Given the description of an element on the screen output the (x, y) to click on. 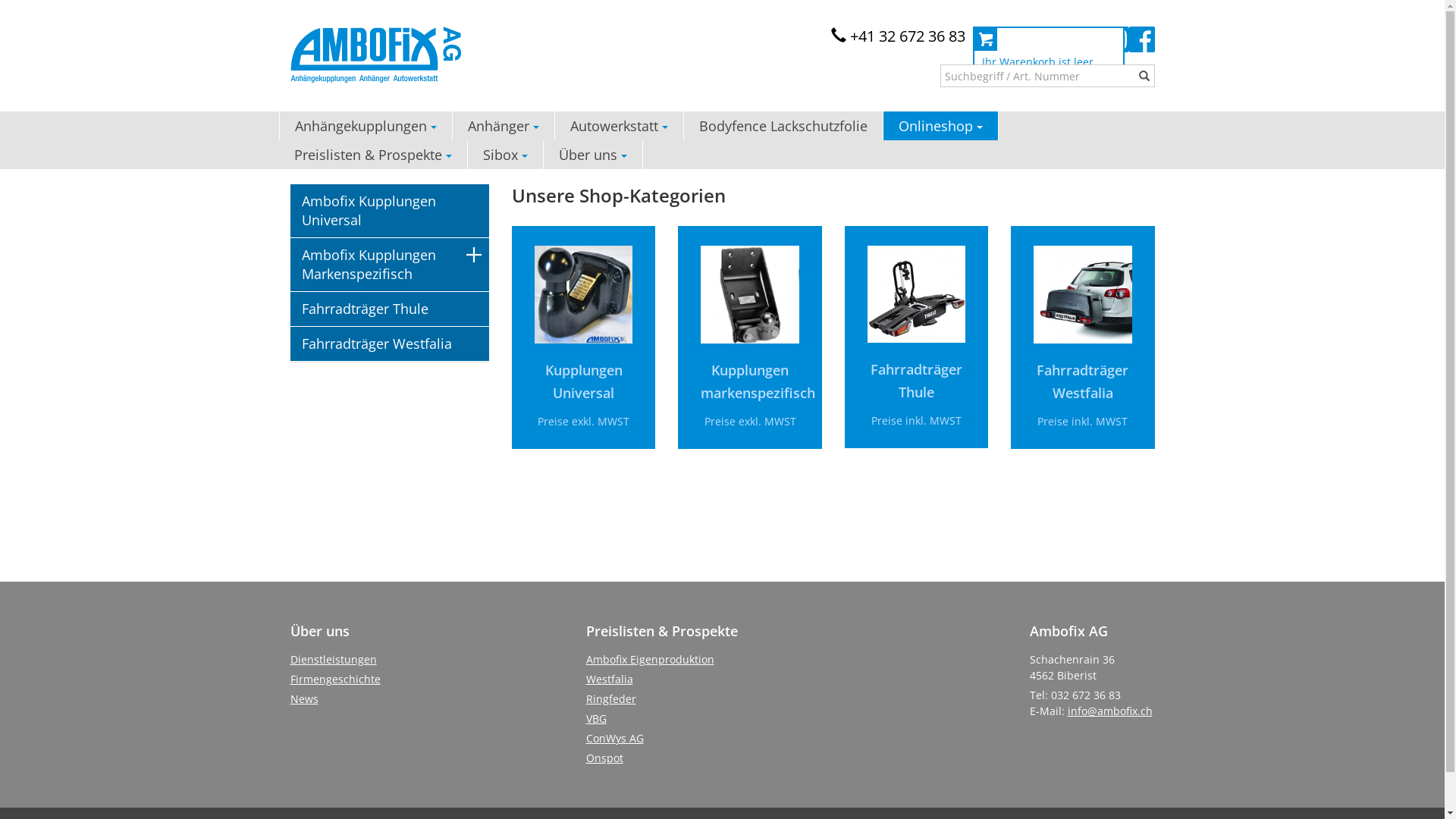
info@ambofix.ch Element type: text (1109, 710)
Preise exkl. MWST Element type: text (583, 421)
Kupplungen markenspezifisch Element type: text (757, 380)
Ambofix Kupplungen Markenspezifisch Element type: text (389, 264)
VBG Element type: text (595, 718)
Ambofix Kupplungen
Universal Element type: text (389, 211)
Kupplungen Universal Element type: text (583, 380)
Onspot Element type: text (603, 757)
Bodyfence Lackschutzfolie Element type: text (783, 125)
Sibox Element type: text (504, 154)
Ringfeder Element type: text (610, 698)
Preise inkl. MWST Element type: text (1082, 421)
News Element type: text (303, 698)
Autowerkstatt Element type: text (619, 125)
Onlineshop Element type: text (939, 125)
Westfalia Element type: text (608, 678)
+41 32 672 36 83 Element type: text (898, 35)
Firmengeschichte Element type: text (334, 678)
Preise exkl. MWST Element type: text (750, 421)
Preise inkl. MWST Element type: text (916, 420)
Dienstleistungen Element type: text (332, 659)
Preislisten & Prospekte Element type: text (373, 154)
Ambofix Eigenproduktion Element type: text (649, 659)
ConWys AG Element type: text (614, 738)
Ihr Warenkorb ist leer Element type: text (1047, 50)
